Given the description of an element on the screen output the (x, y) to click on. 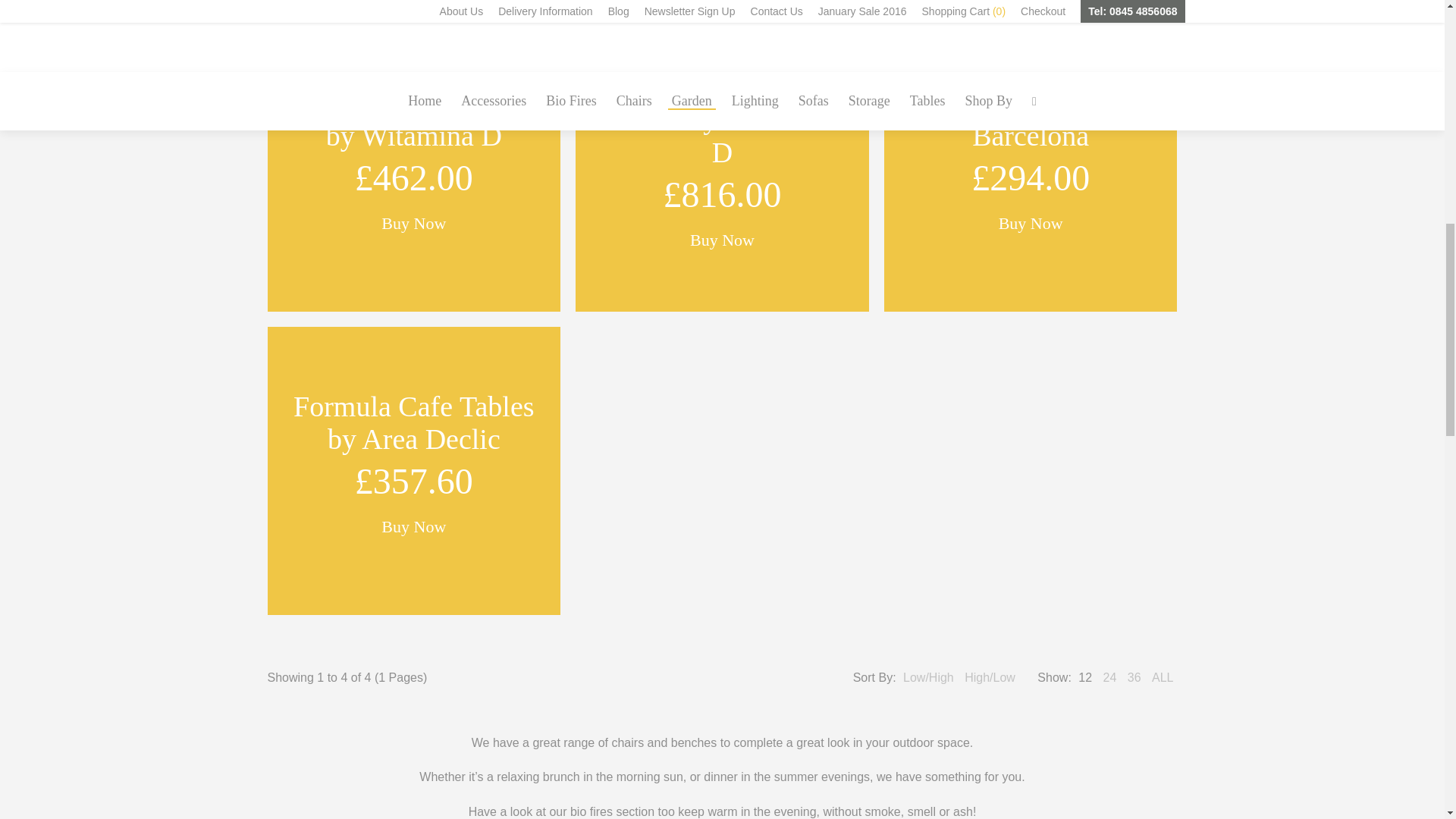
Formula Cafe Tables by Area Declic (413, 470)
Bierki Coffee Table by Witamina D (413, 167)
Drops Table by RS Barcelona (1030, 167)
